Given the description of an element on the screen output the (x, y) to click on. 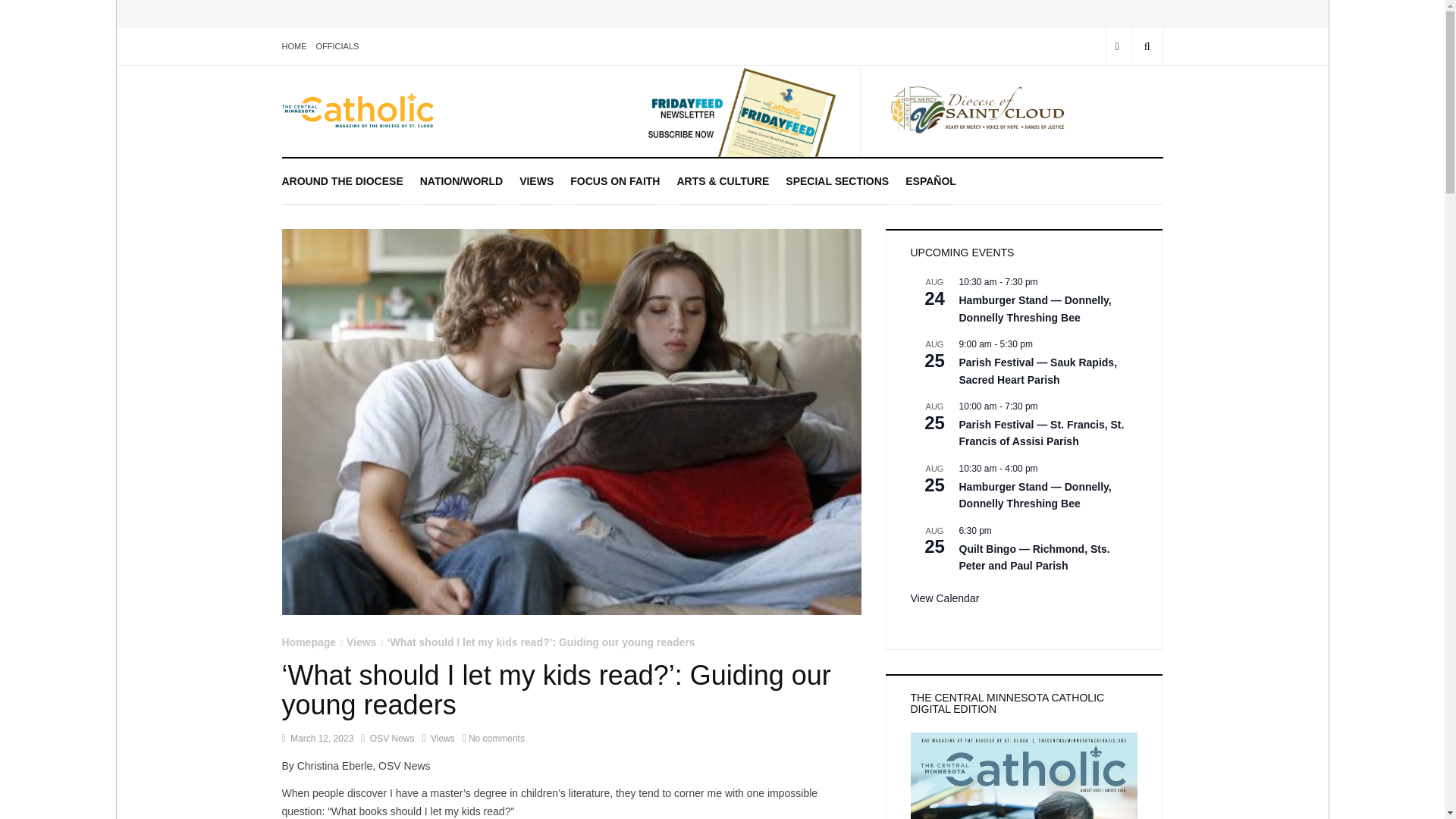
AROUND THE DIOCESE (342, 180)
OFFICIALS (336, 46)
View more events. (944, 598)
Homepage (309, 642)
